Given the description of an element on the screen output the (x, y) to click on. 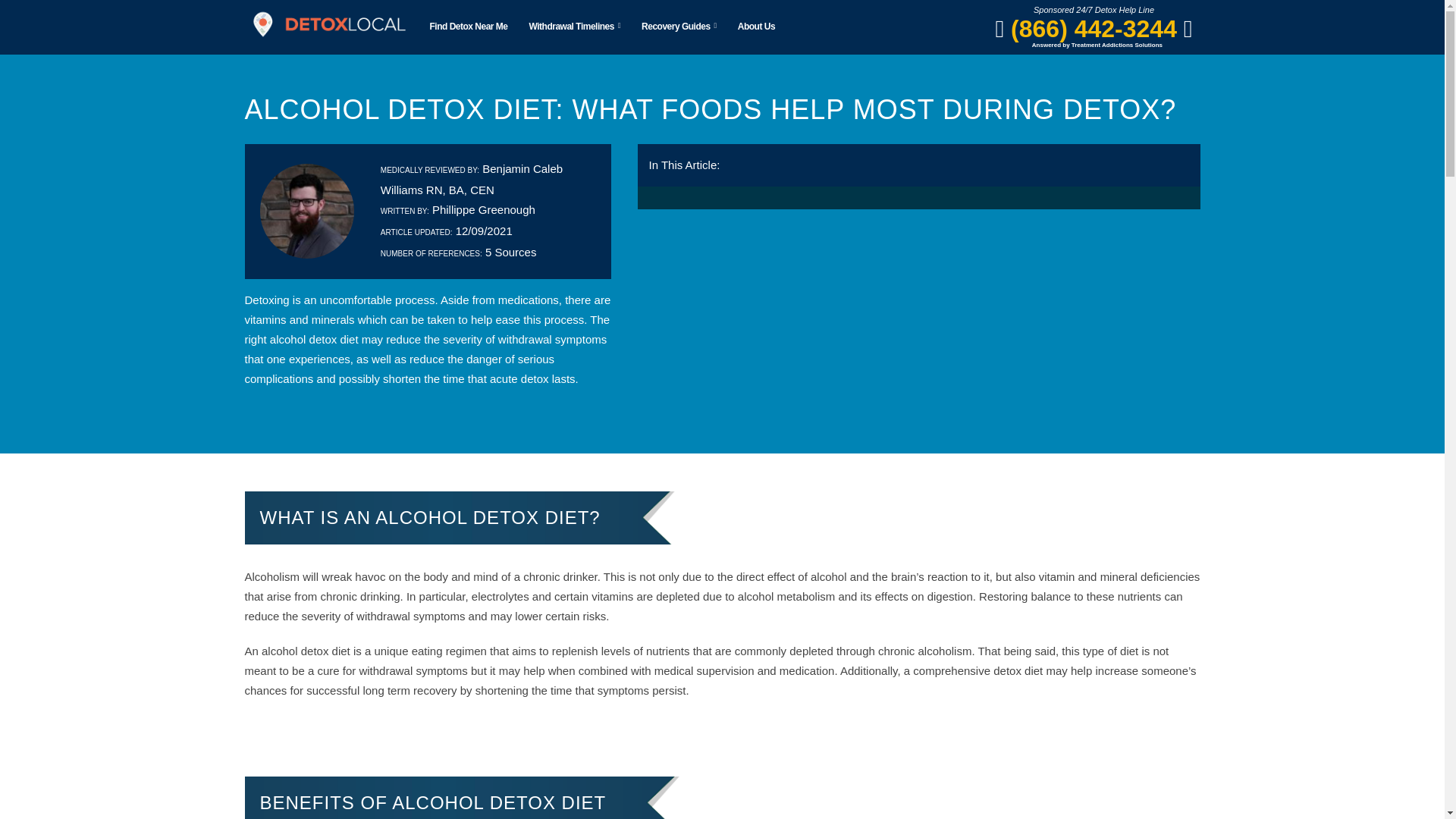
Home (259, 24)
Alcohol (425, 24)
Recovery Guides (678, 26)
Find Detox Near Me (468, 26)
Detox Local (327, 23)
About Us (756, 26)
Sources (509, 251)
Withdrawal Timelines (340, 24)
Answered by Treatment Addictions Solutions (1096, 42)
Withdrawal Timelines (574, 26)
